Given the description of an element on the screen output the (x, y) to click on. 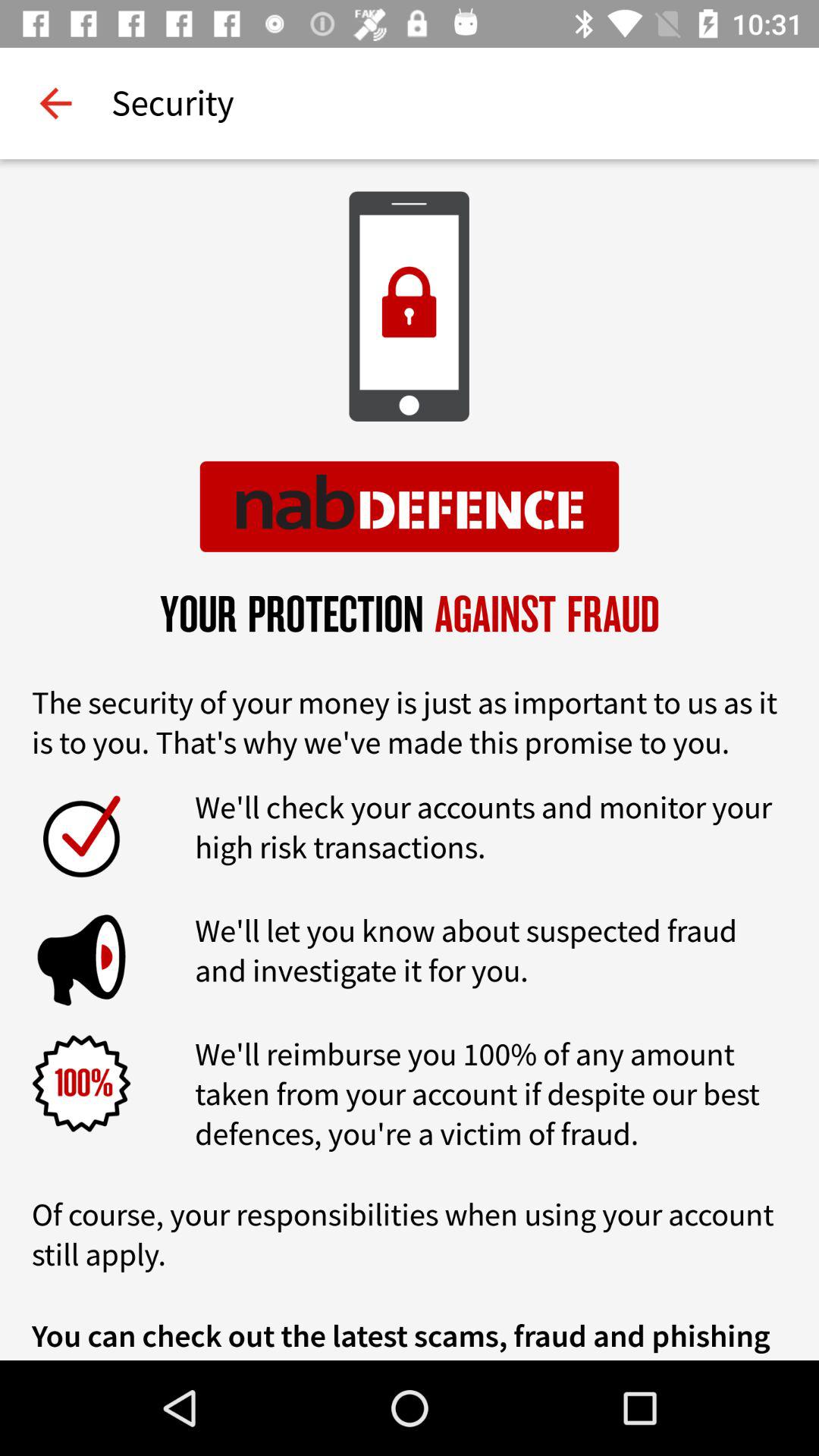
launch item next to security icon (55, 103)
